Given the description of an element on the screen output the (x, y) to click on. 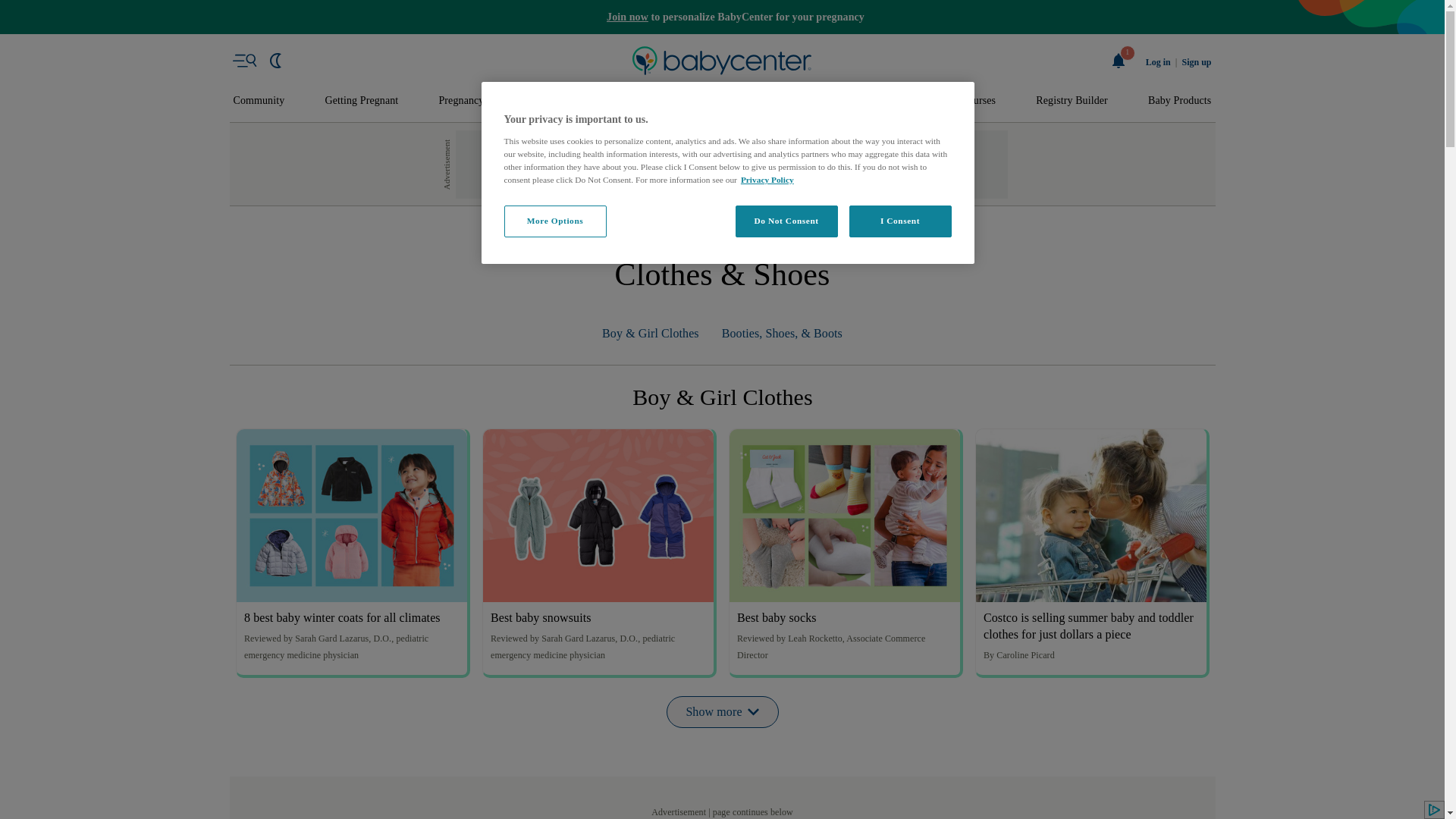
Child (768, 101)
Pregnancy (460, 101)
Courses (977, 101)
Family (904, 101)
Registry Builder (1071, 101)
Toddler (699, 101)
1 (1118, 60)
Log in (1157, 61)
Health (835, 101)
Baby (631, 101)
Baby Products (1179, 101)
Getting Pregnant (360, 101)
Community (258, 101)
Sign up (1195, 61)
Baby Names (551, 101)
